Given the description of an element on the screen output the (x, y) to click on. 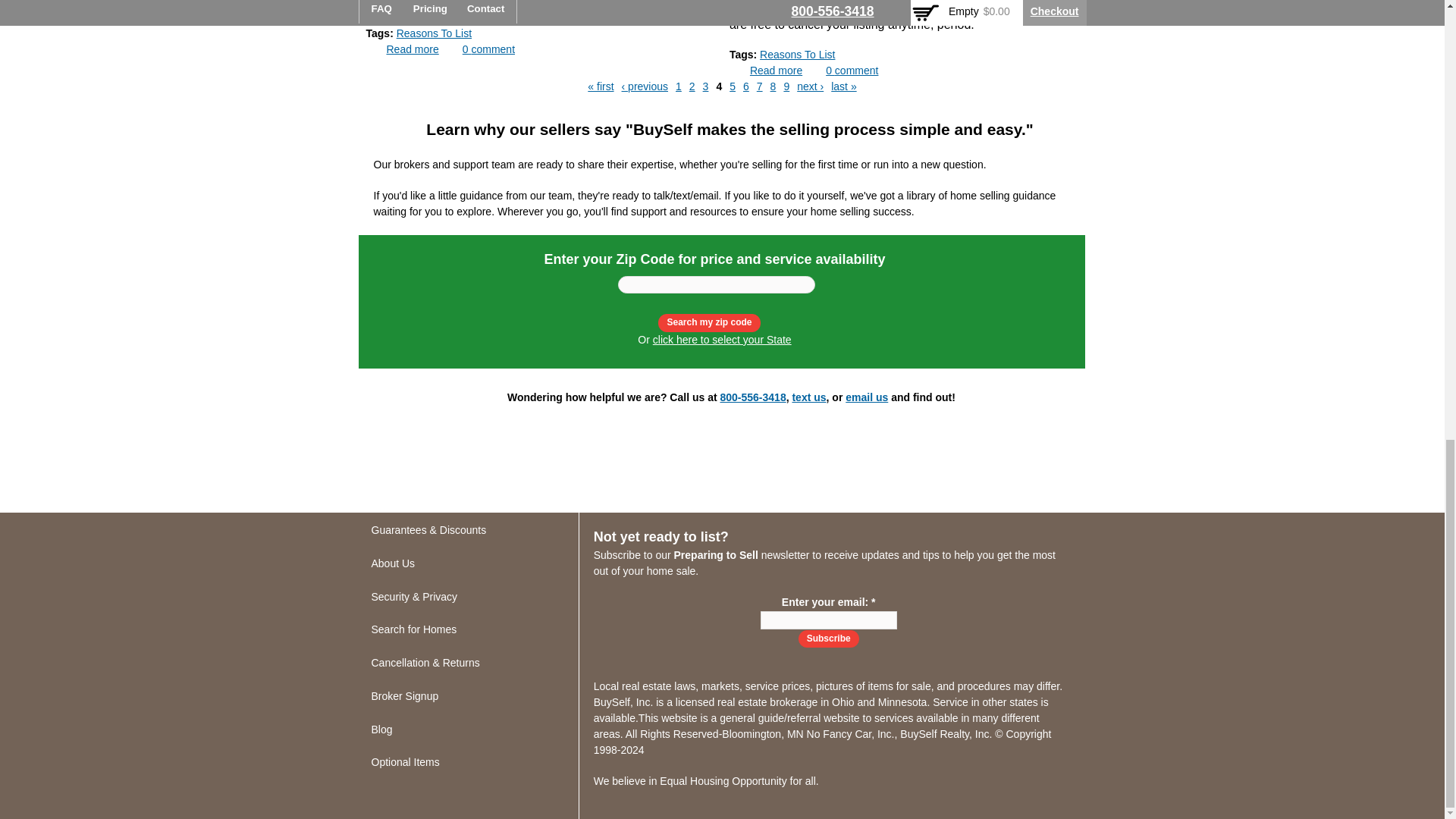
0 comment (489, 49)
Reasons To List (433, 33)
Subscribe (828, 638)
Search my zip code (709, 322)
